Given the description of an element on the screen output the (x, y) to click on. 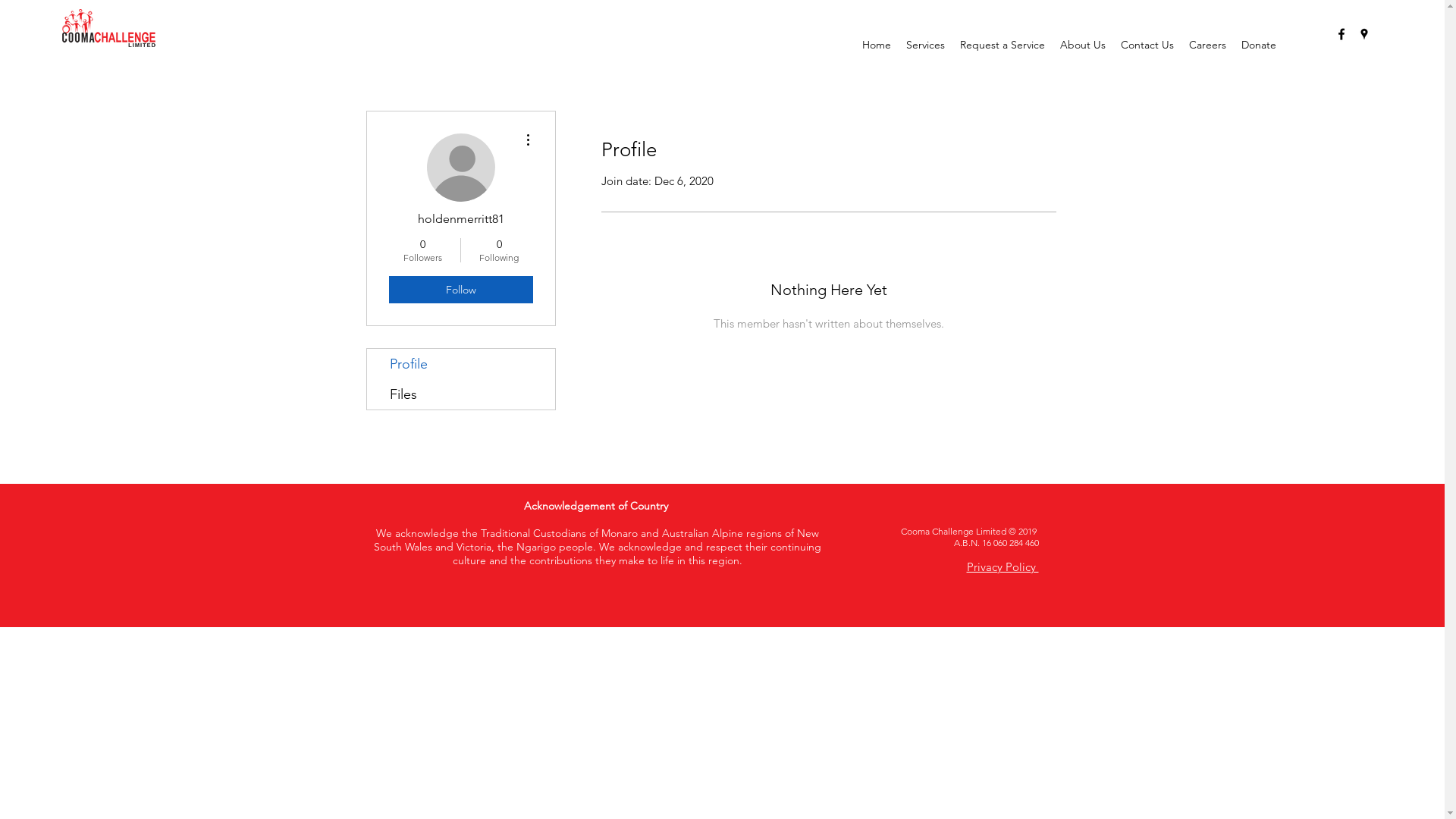
Follow Element type: text (460, 289)
Victoria Element type: text (473, 546)
Request a Service Element type: text (1002, 44)
Privacy Policy  Element type: text (1002, 566)
Contact Us Element type: text (1147, 44)
0
Followers Element type: text (421, 249)
Files Element type: text (461, 394)
Acknowledgement of Country  Element type: text (597, 505)
0
Following Element type: text (499, 249)
Monaro  Element type: text (620, 532)
Donate Element type: text (1258, 44)
New South Wales Element type: text (596, 539)
Australian Alpine  Element type: text (704, 532)
Home Element type: text (876, 44)
About Us Element type: text (1082, 44)
Profile Element type: text (461, 363)
Services Element type: text (925, 44)
Careers Element type: text (1207, 44)
